Given the description of an element on the screen output the (x, y) to click on. 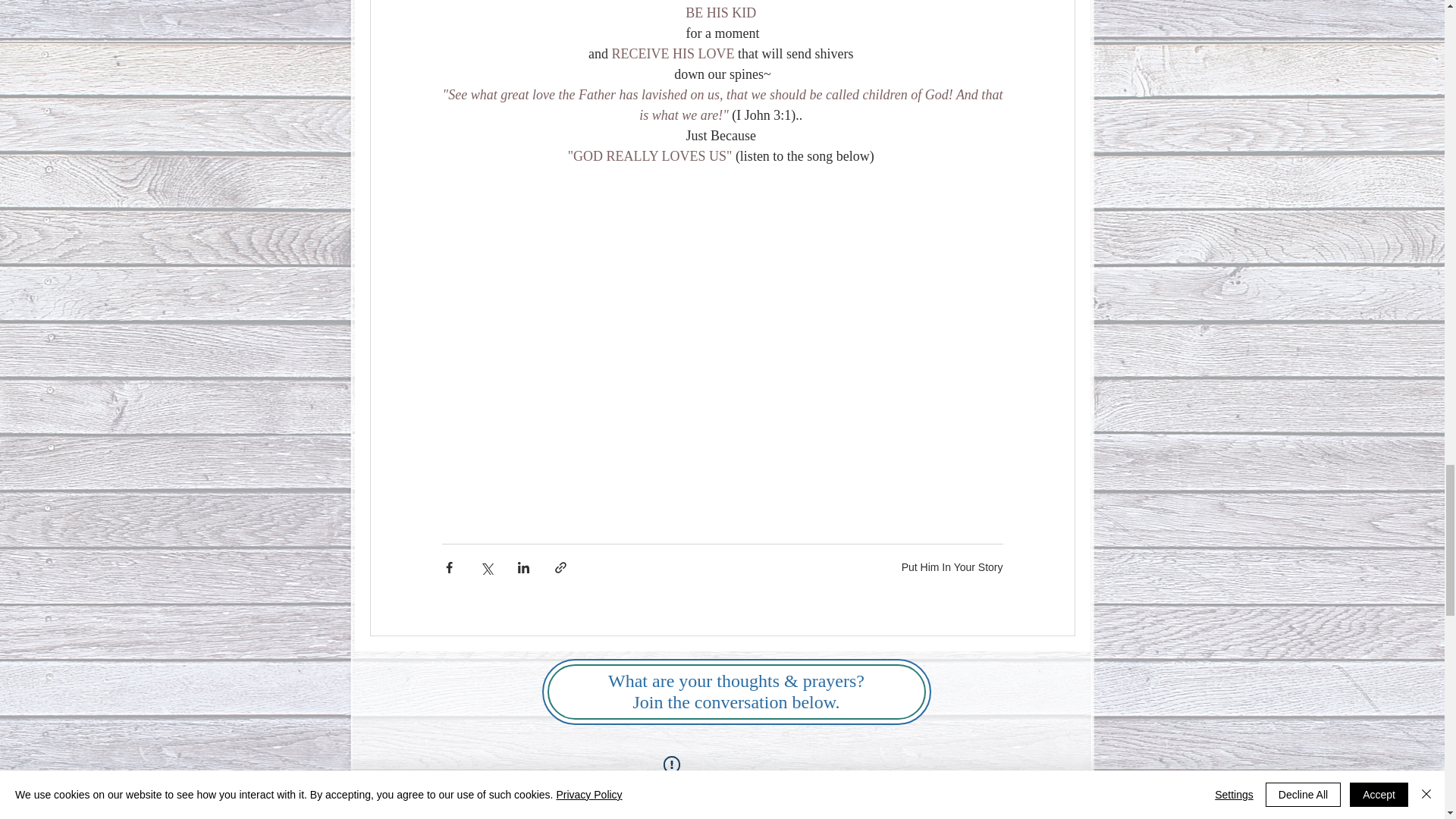
Put Him In Your Story (952, 567)
